Given the description of an element on the screen output the (x, y) to click on. 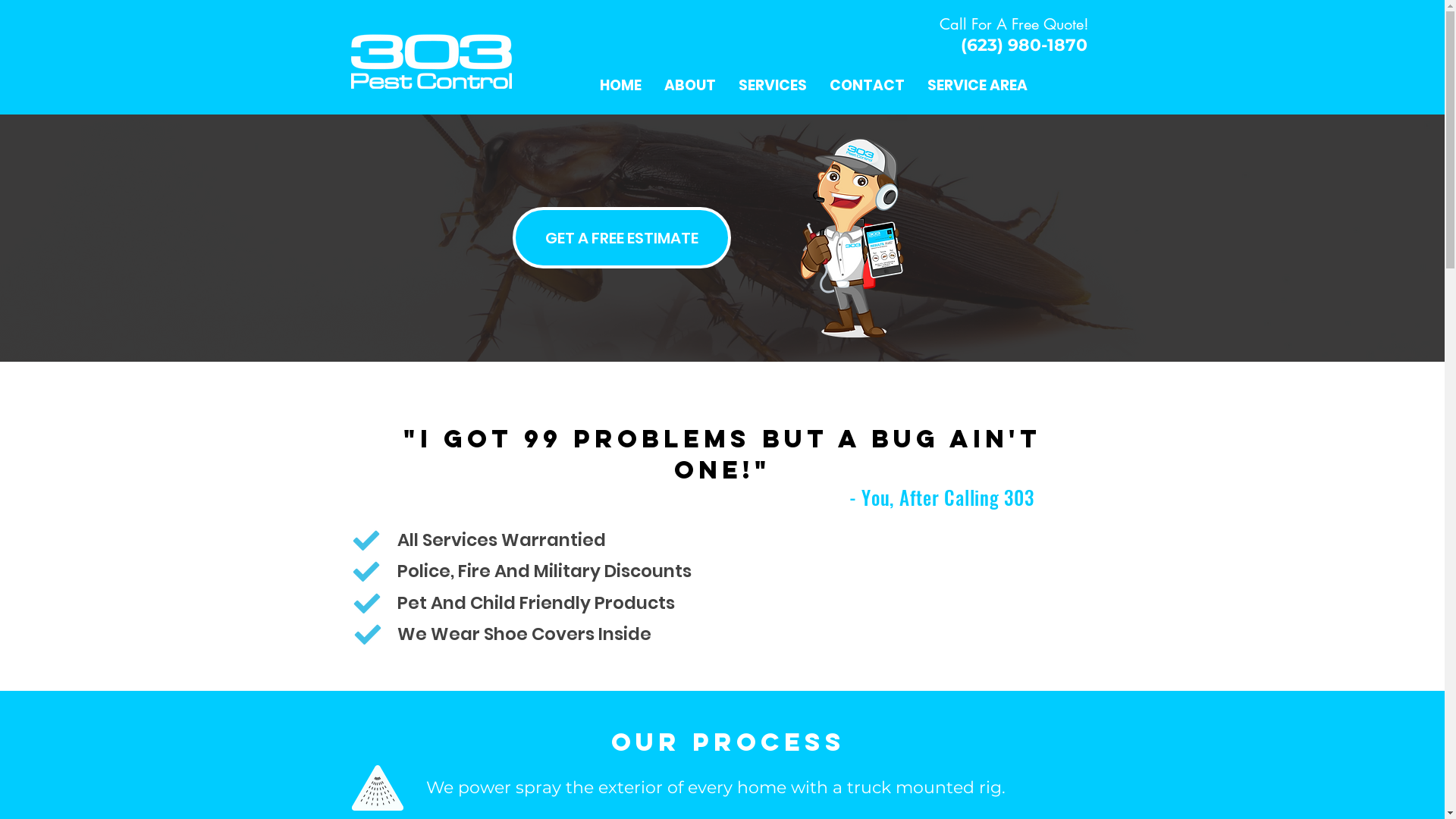
GET A FREE ESTIMATE Element type: text (621, 237)
HOME Element type: text (620, 85)
ABOUT Element type: text (689, 85)
SERVICES Element type: text (771, 85)
CONTACT Element type: text (866, 85)
SERVICE AREA Element type: text (977, 85)
